Given the description of an element on the screen output the (x, y) to click on. 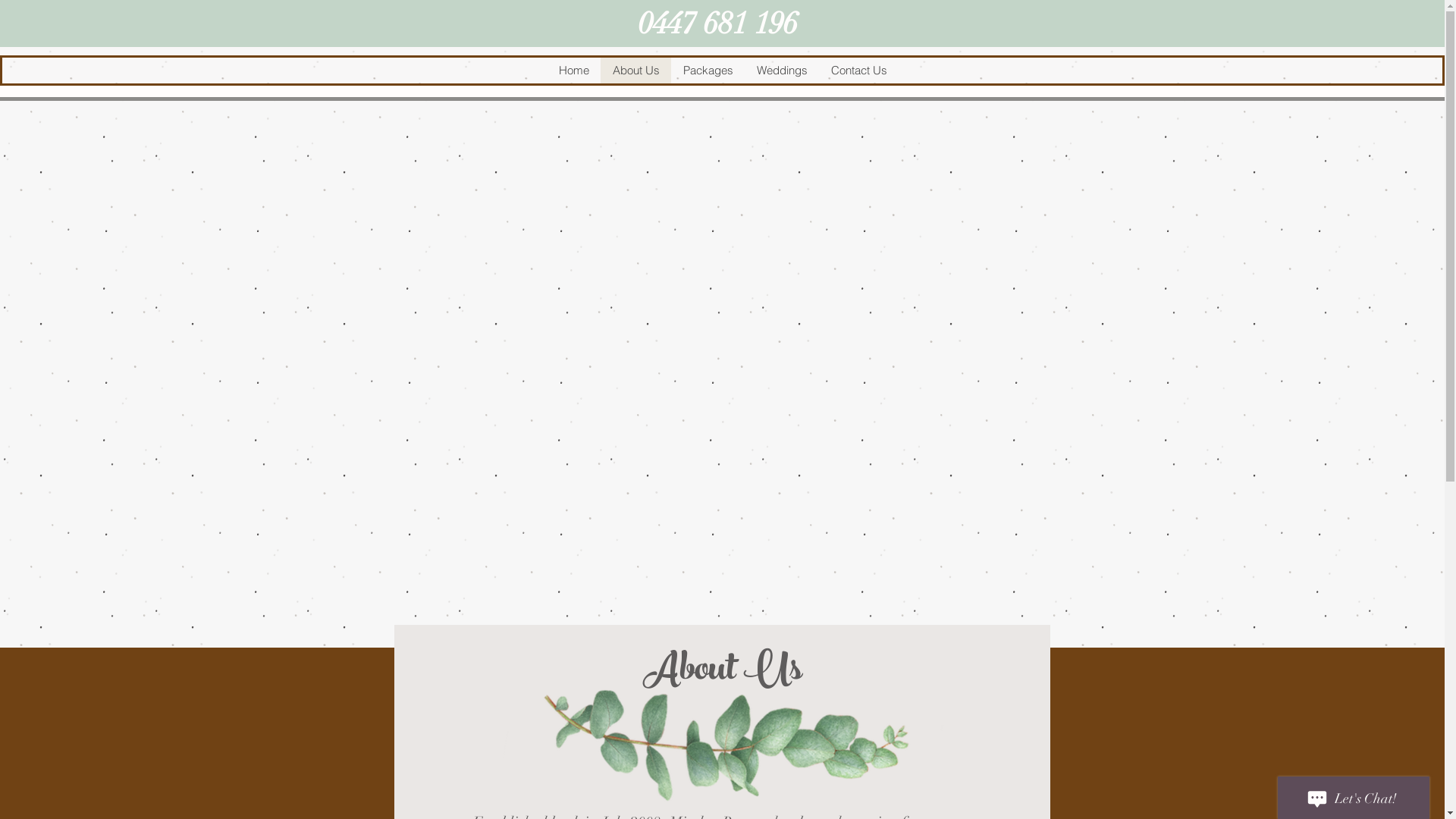
Home Element type: text (572, 70)
Packages Element type: text (706, 70)
Weddings Element type: text (781, 70)
Contact Us Element type: text (858, 70)
About Us Element type: text (635, 70)
